Given the description of an element on the screen output the (x, y) to click on. 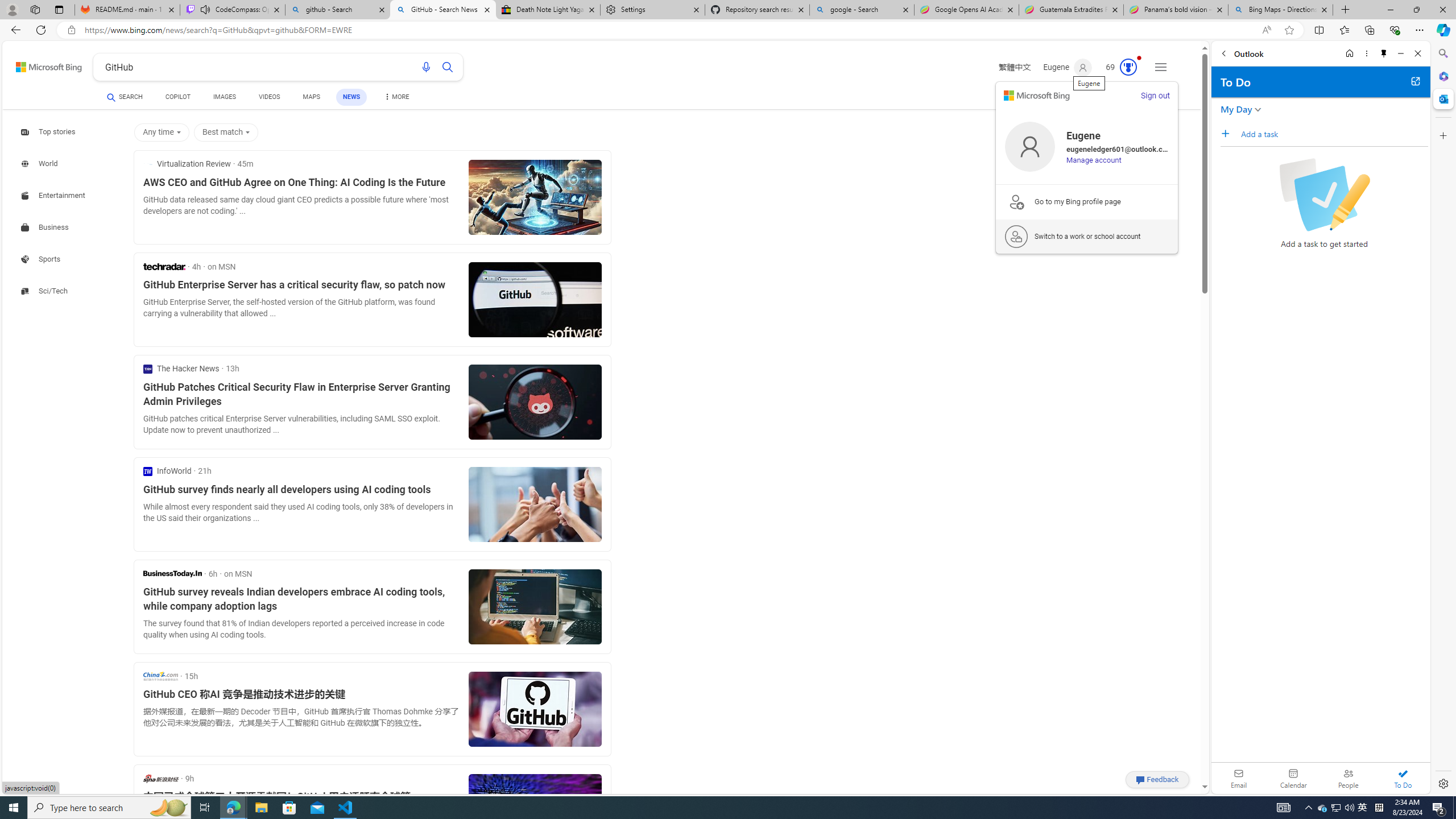
Switch to a work or school account (1086, 235)
Search news about Entertainment (54, 195)
Open in new tab (1414, 80)
MORE (395, 98)
Search news about Business (46, 227)
SEARCH (124, 96)
Manage account (1093, 159)
microsoft logo (1036, 95)
